Given the description of an element on the screen output the (x, y) to click on. 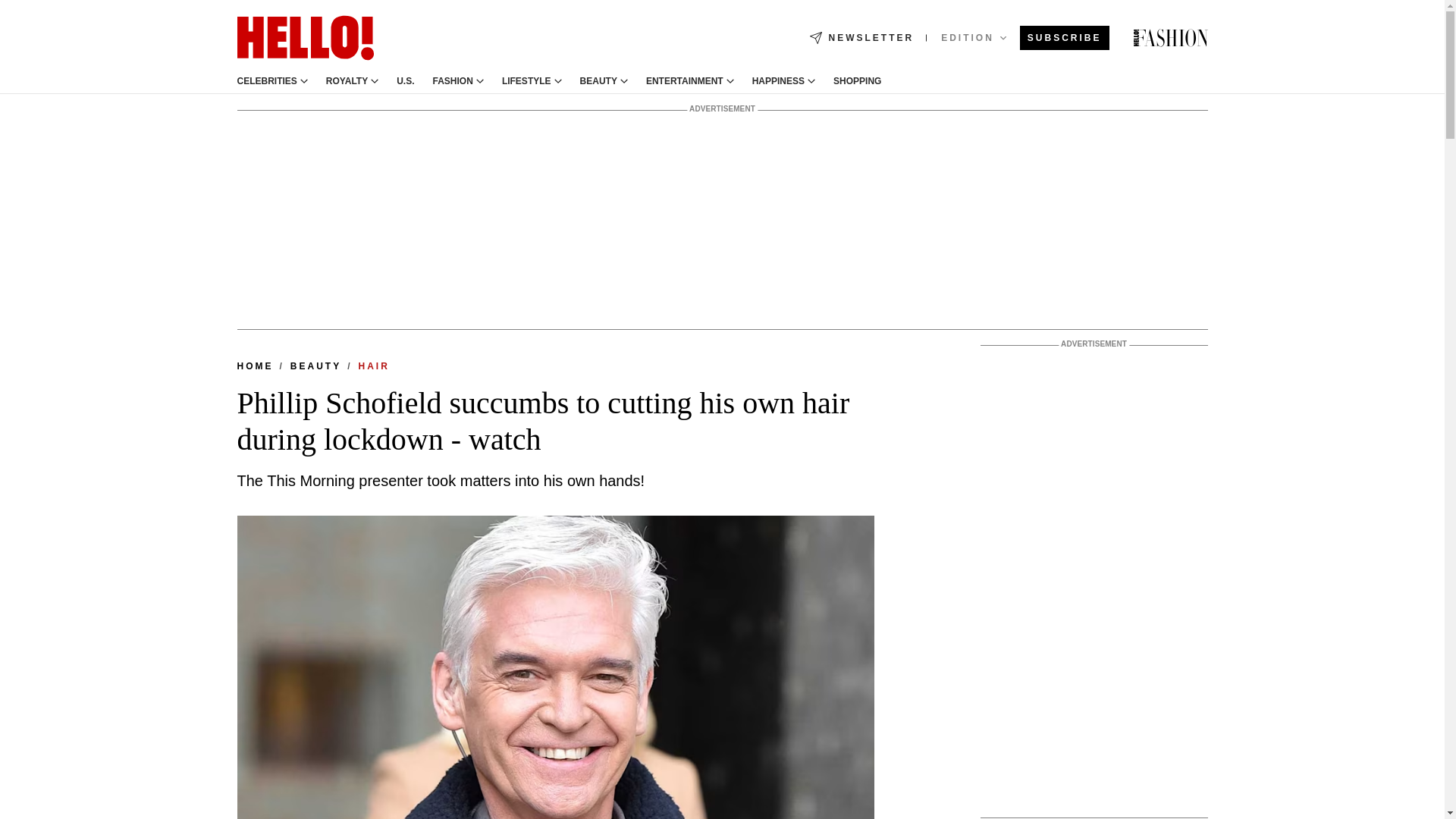
BEAUTY (598, 81)
U.S. (404, 81)
CELEBRITIES (266, 81)
NEWSLETTER (861, 38)
FASHION (452, 81)
ROYALTY (347, 81)
